Given the description of an element on the screen output the (x, y) to click on. 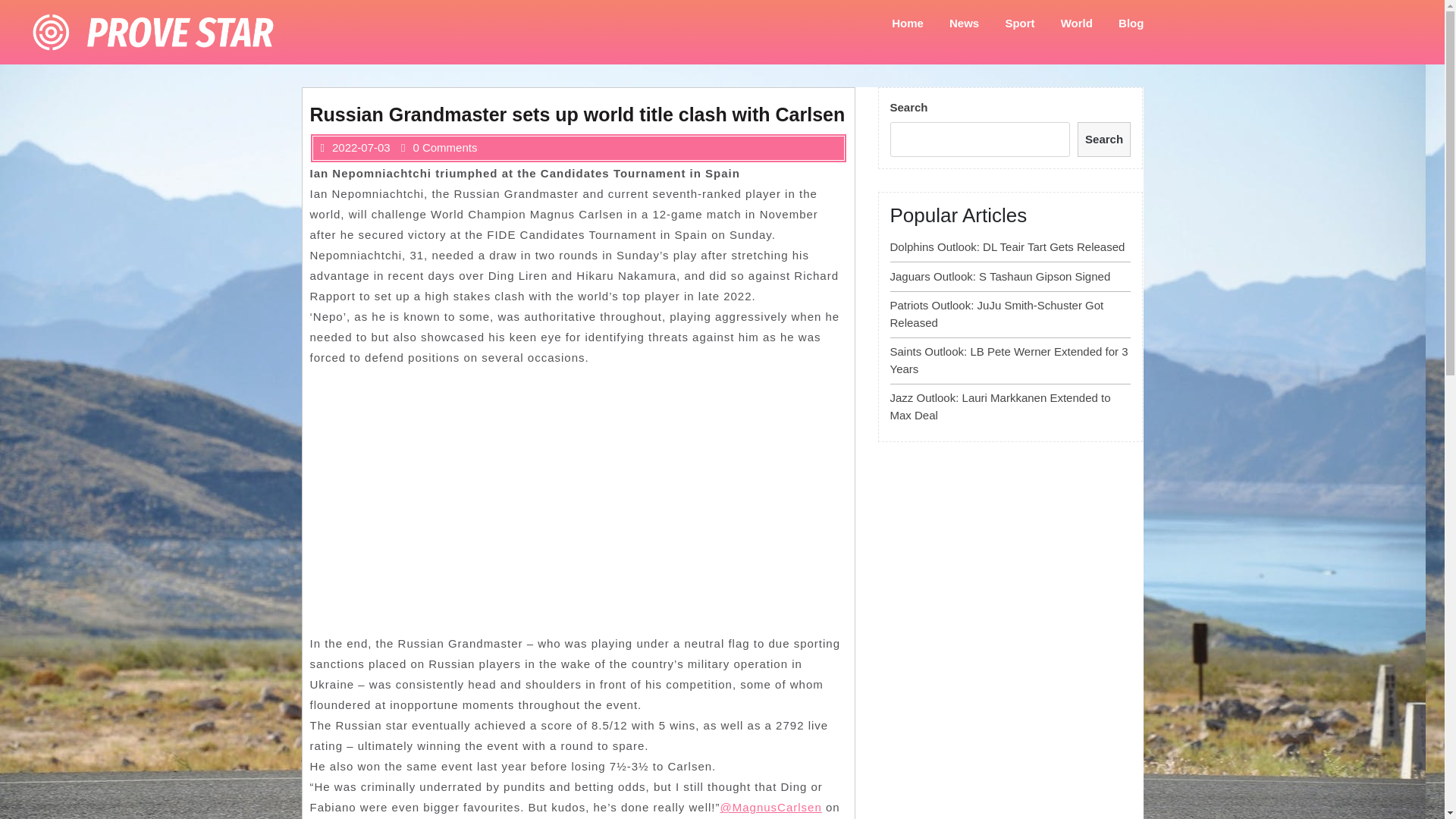
Search (1104, 139)
Jaguars Outlook: S Tashaun Gipson Signed (999, 276)
World (1076, 23)
Patriots Outlook: JuJu Smith-Schuster Got Released (996, 313)
Dolphins Outlook: DL Teair Tart Gets Released (1007, 246)
Home (907, 23)
Jazz Outlook: Lauri Markkanen Extended to Max Deal (999, 406)
Blog (1130, 23)
News (963, 23)
Sport (1018, 23)
